Given the description of an element on the screen output the (x, y) to click on. 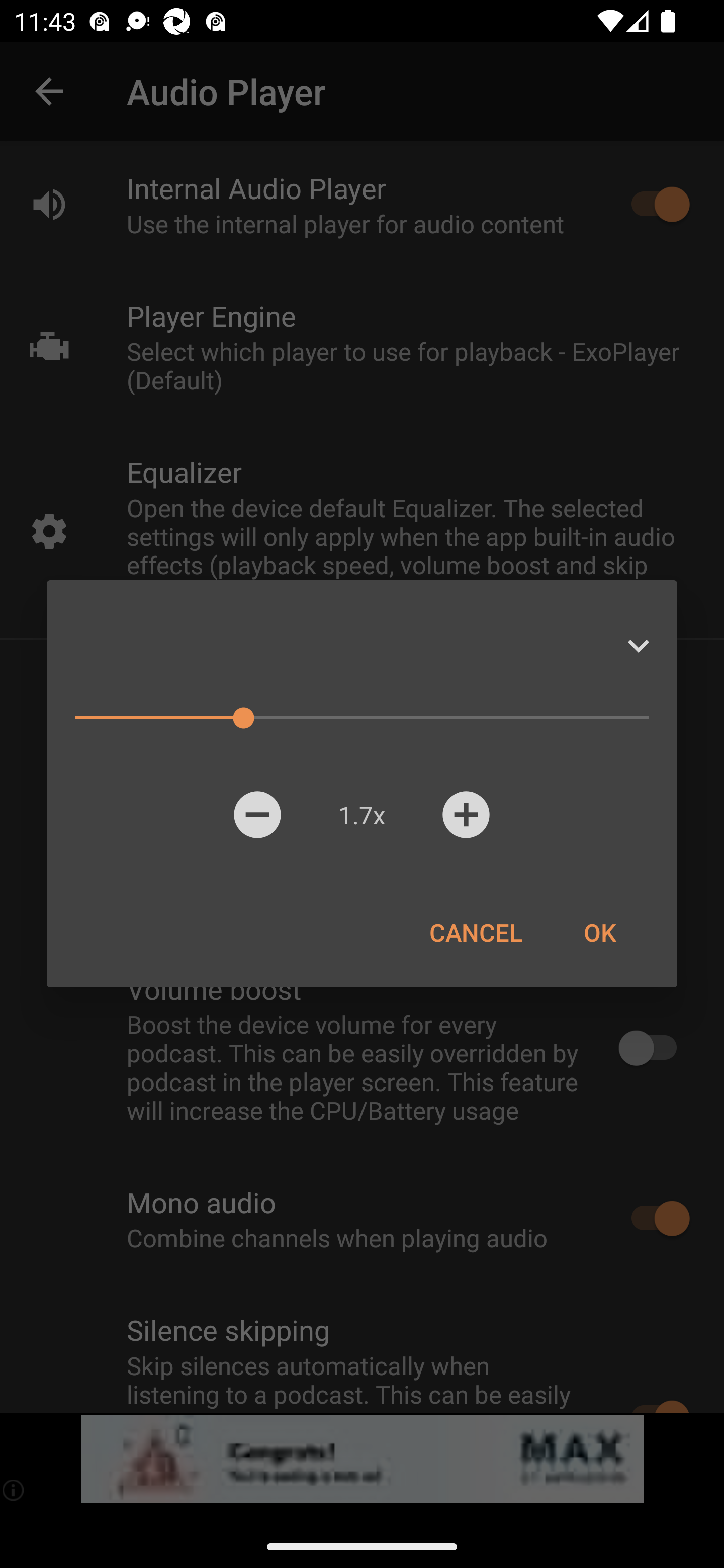
Expand (637, 645)
1.7x (361, 814)
CANCEL (475, 932)
OK (599, 932)
